Given the description of an element on the screen output the (x, y) to click on. 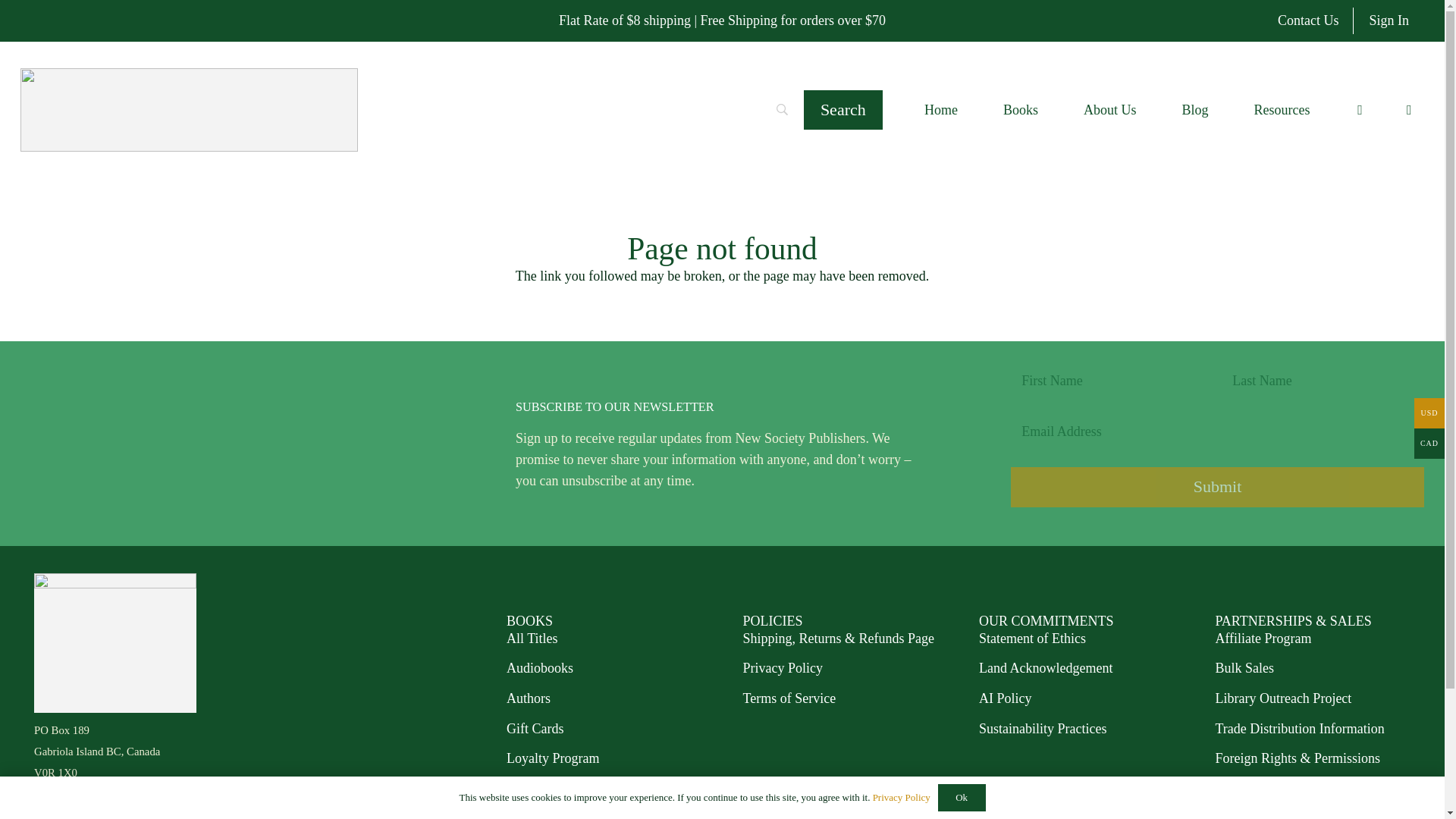
Resources (1281, 109)
About Us (1109, 109)
Search (842, 110)
Submit (1216, 486)
Sign In (1388, 20)
Search (842, 110)
Home (940, 109)
Books (1020, 109)
Contact Us (1308, 20)
Blog (1194, 109)
Search (842, 110)
